Given the description of an element on the screen output the (x, y) to click on. 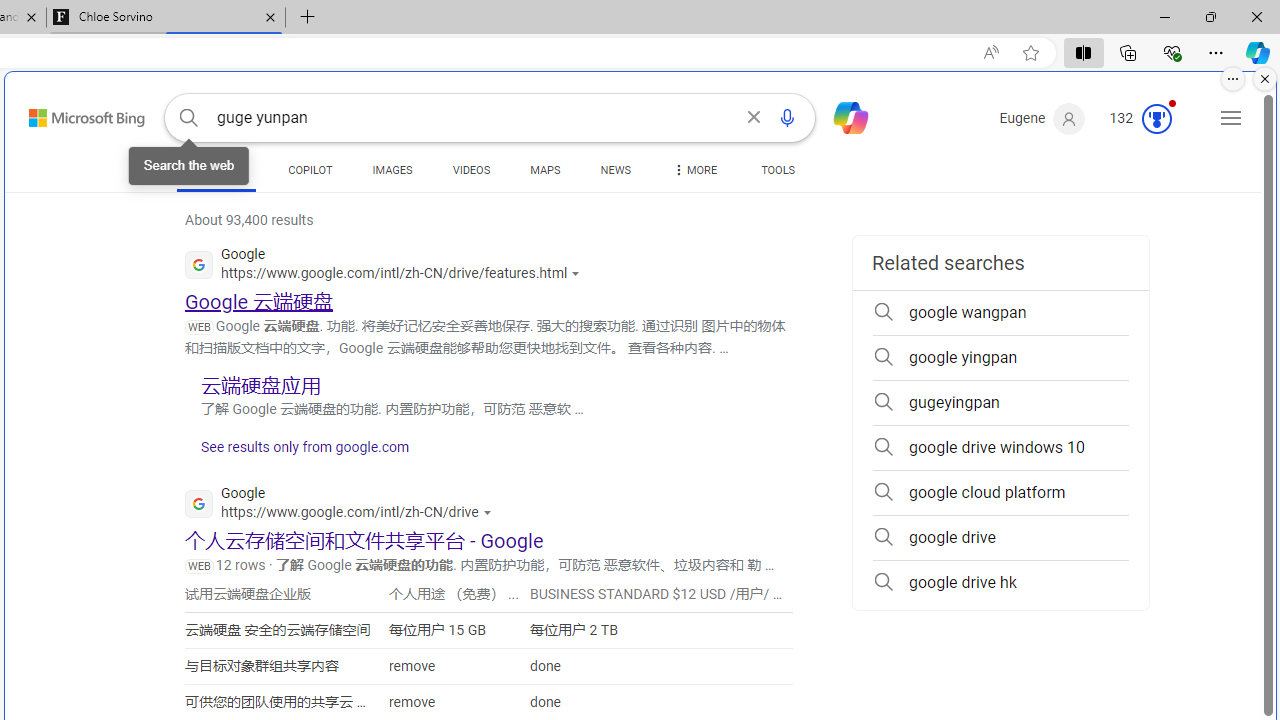
Class: outer-circle-animation (1156, 118)
Chloe Sorvino (166, 17)
NEWS (614, 173)
google yingpan (1000, 358)
Clear text (753, 117)
google wangpan (1000, 312)
SEARCH (216, 170)
Google (343, 506)
